Given the description of an element on the screen output the (x, y) to click on. 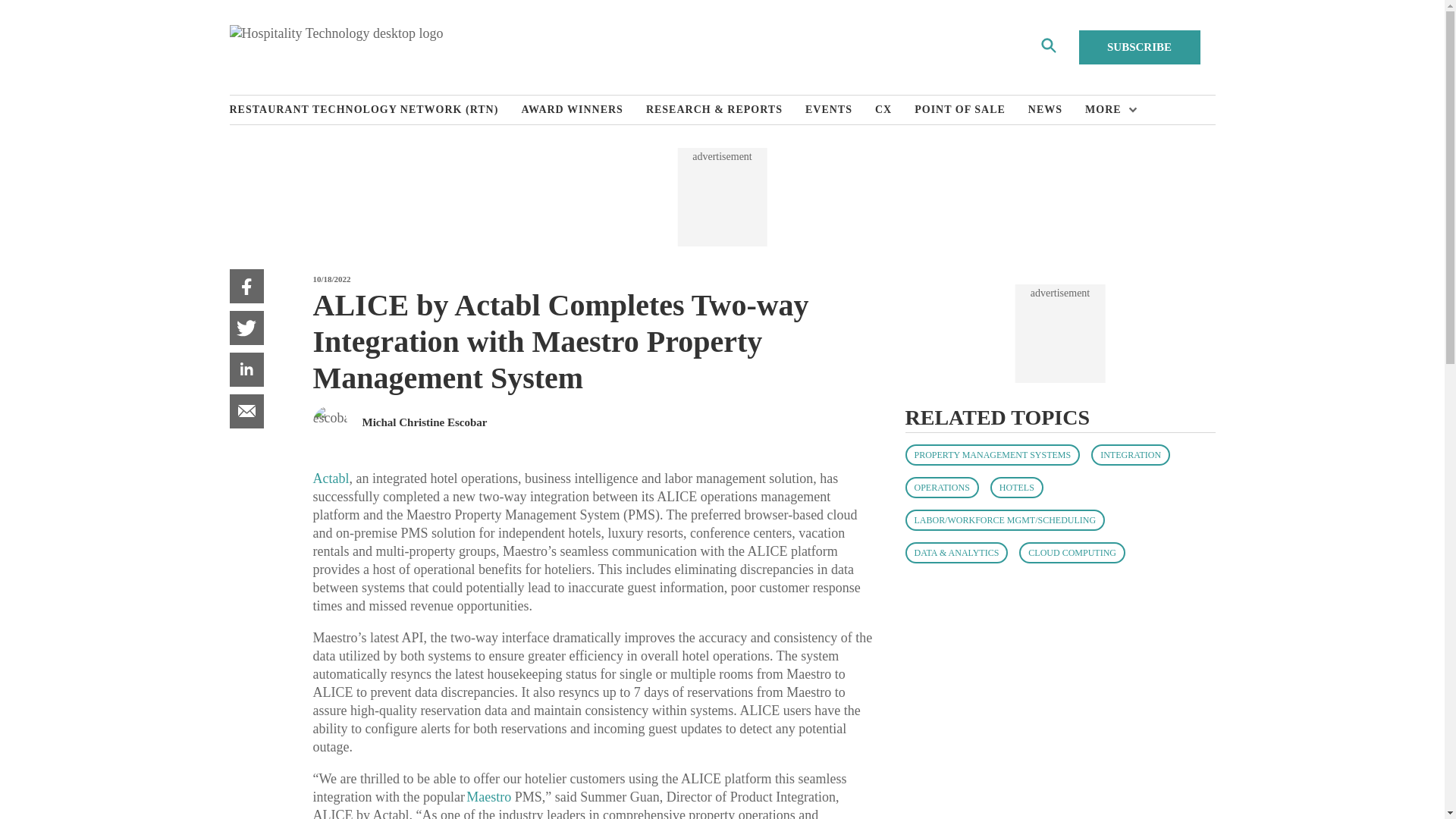
PROPERTY MANAGEMENT SYSTEMS (992, 455)
Michal Christine Escobar (424, 422)
email (245, 410)
SUBSCRIBE (1138, 47)
CLOUD COMPUTING (1072, 552)
facebook (245, 286)
linkedIn (245, 369)
email (245, 410)
Maestro (488, 796)
CX (894, 109)
